Given the description of an element on the screen output the (x, y) to click on. 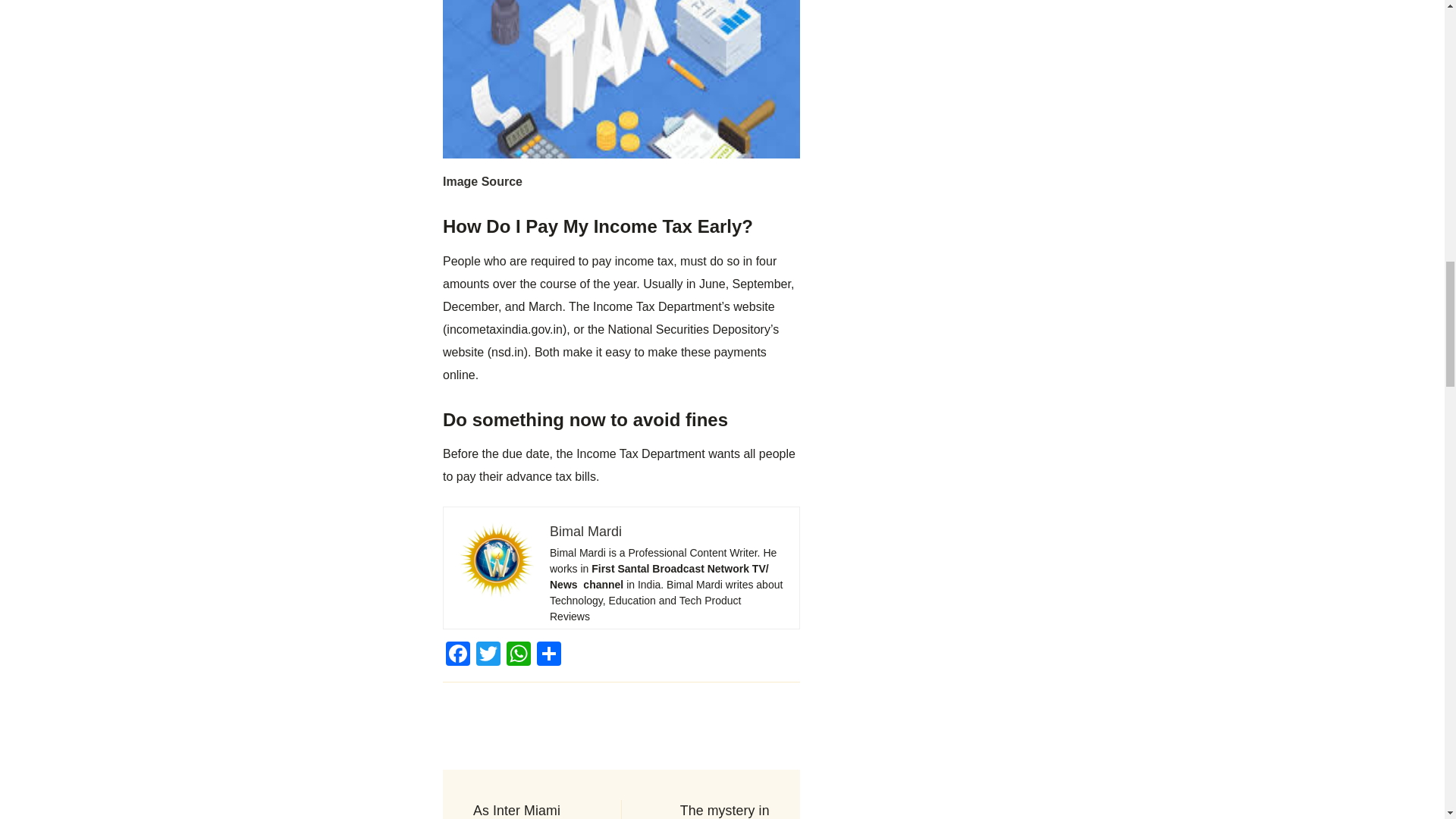
Facebook (457, 655)
Twitter (488, 655)
WhatsApp (518, 655)
